Given the description of an element on the screen output the (x, y) to click on. 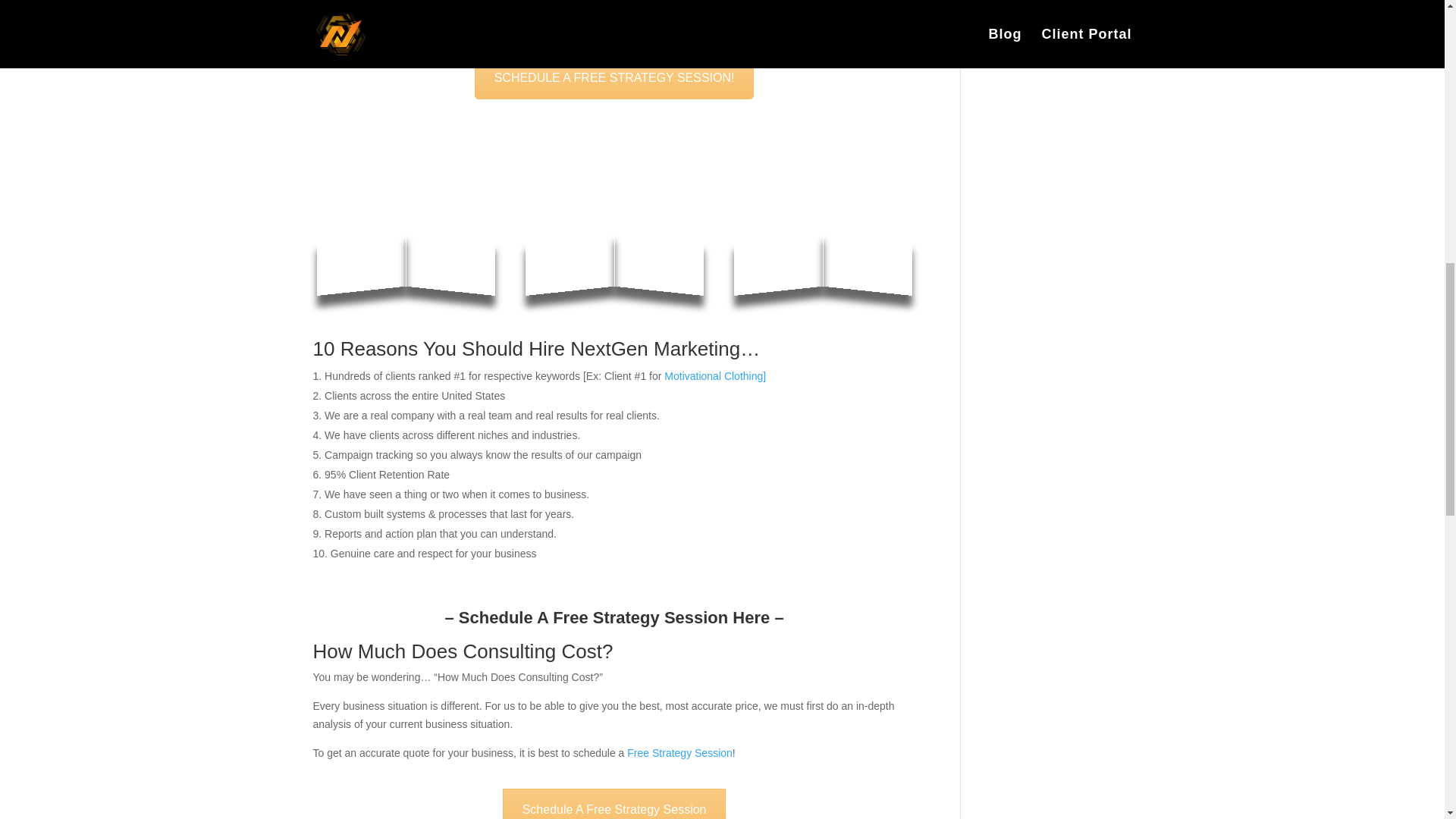
Free Strategy Session (679, 752)
Schedule A Free Strategy Session (614, 803)
SCHEDULE A FREE STRATEGY SESSION! (614, 77)
